Given the description of an element on the screen output the (x, y) to click on. 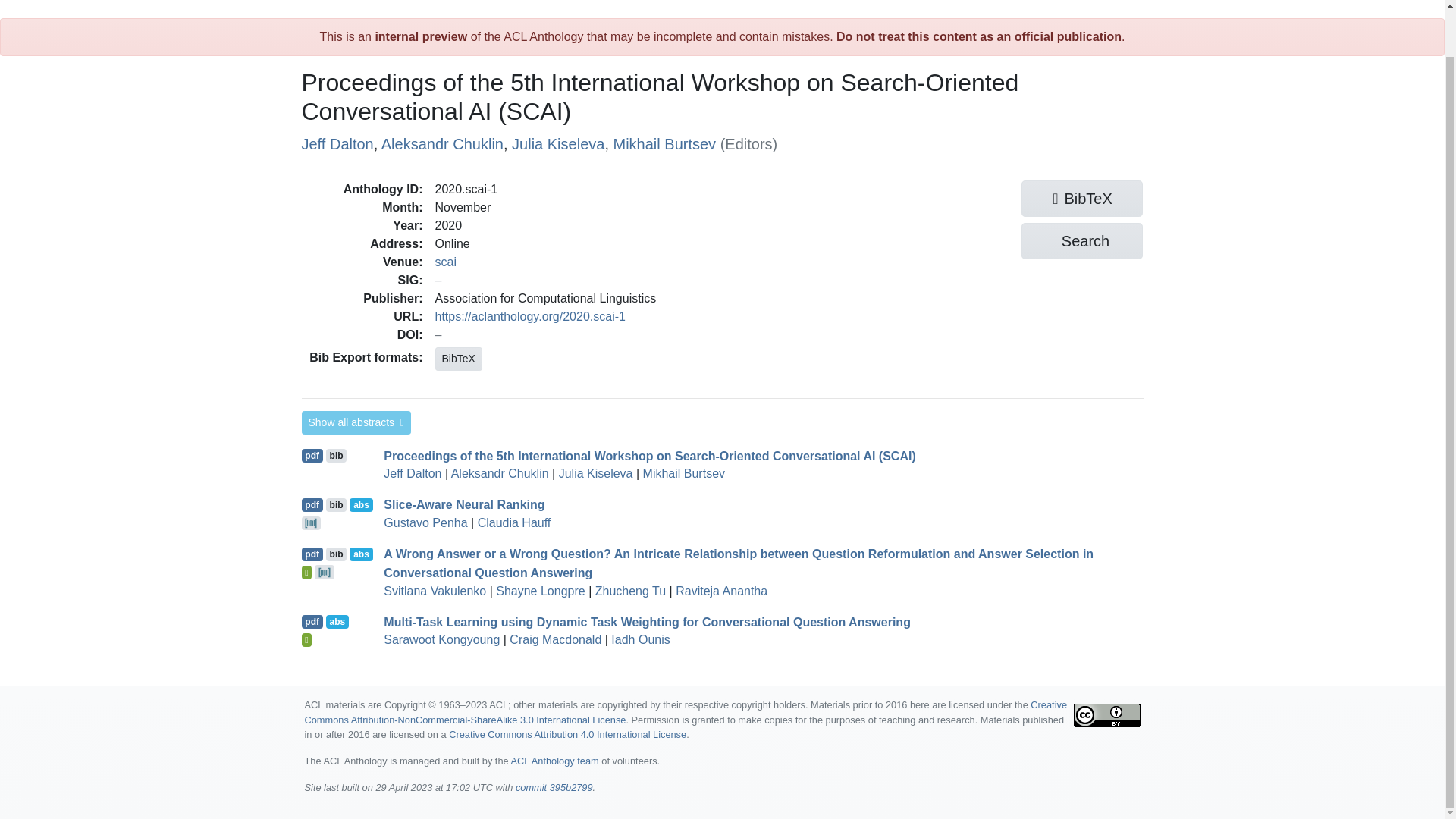
bib (336, 504)
Open PDF (312, 554)
abs (360, 554)
Code (324, 572)
Search (1082, 240)
Aleksandr Chuklin (442, 143)
Claudia Hauff (514, 522)
bib (336, 554)
Export to BibTeX (336, 455)
